Given the description of an element on the screen output the (x, y) to click on. 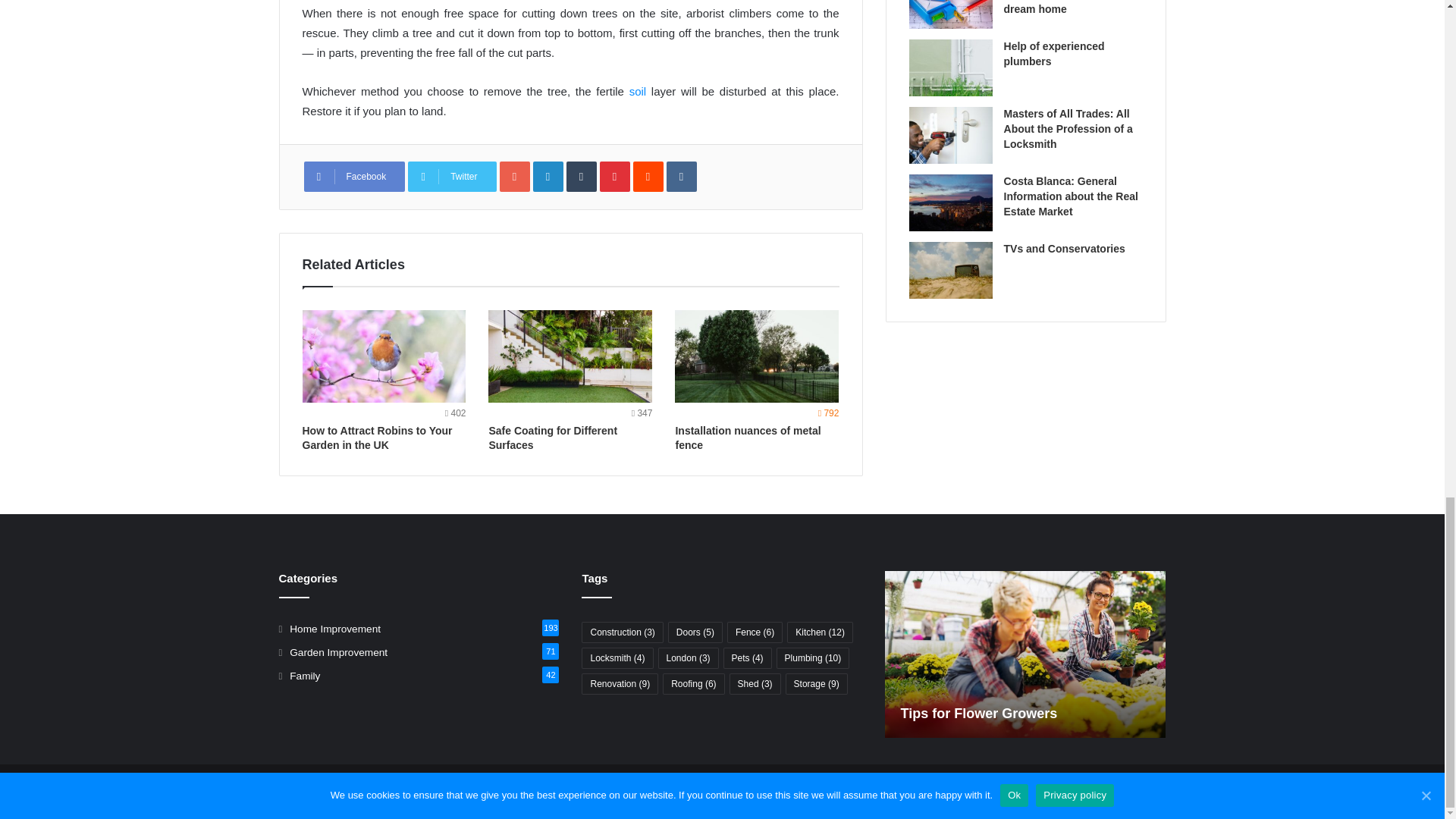
Reddit (648, 176)
VKontakte (681, 176)
How to Attract Robins to Your Garden in the UK (383, 356)
Tumblr (581, 176)
Installation nuances of metal fence (748, 438)
How to Attract Robins to Your Garden in the UK (376, 438)
Safe Coating for Different Surfaces (569, 356)
Safe Coating for Different Surfaces (552, 438)
Installation nuances of metal fence (756, 356)
Safe Coating for Different Surfaces (552, 438)
LinkedIn (547, 176)
soil (637, 91)
Facebook (353, 176)
Pinterest (614, 176)
How to Attract Robins to Your Garden in the UK (376, 438)
